Given the description of an element on the screen output the (x, y) to click on. 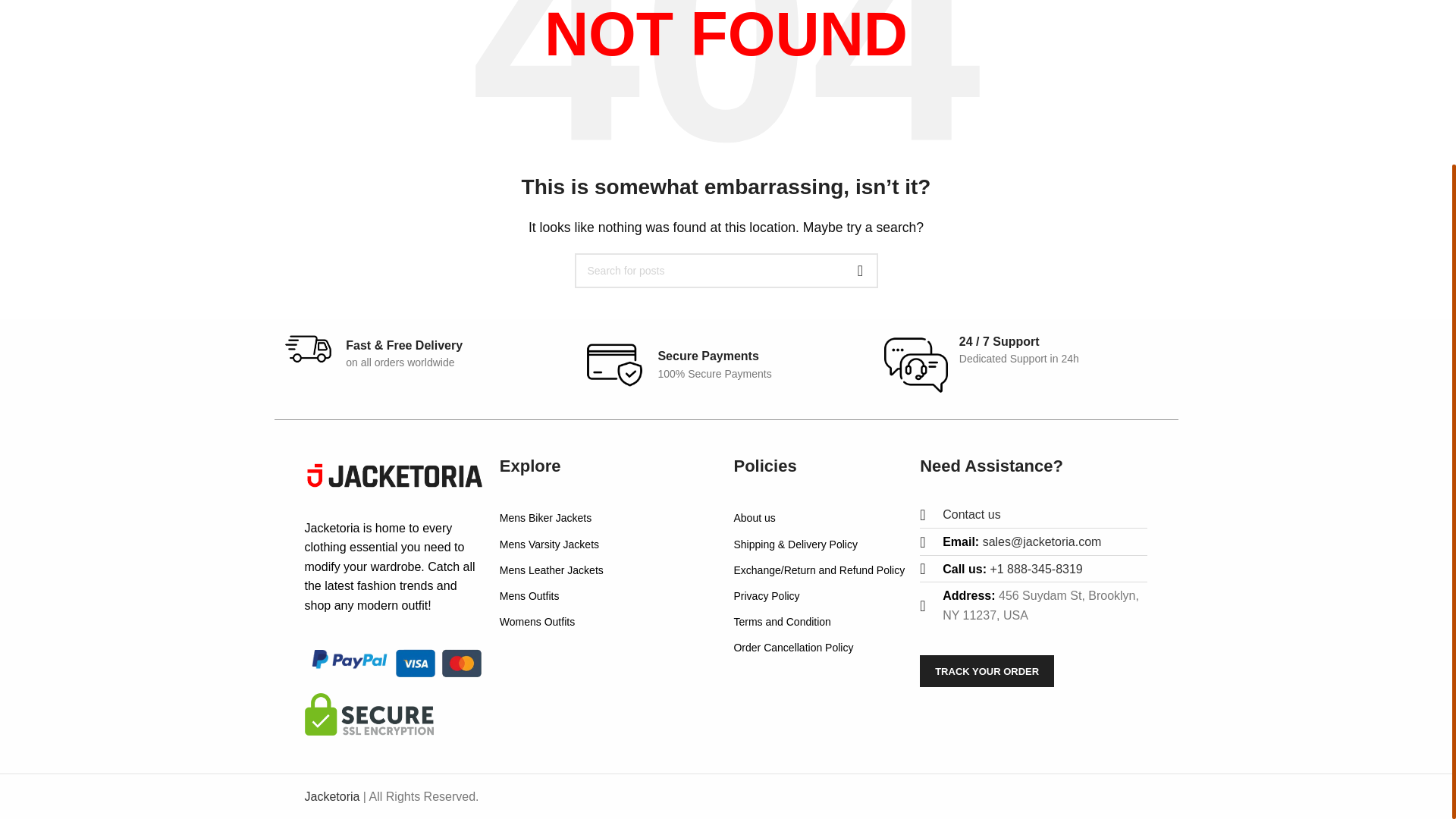
Terms and Condition (818, 621)
SEARCH (860, 270)
Search for posts (726, 270)
Womens Outfits (609, 621)
TRACK YOUR ORDER (987, 671)
About us (818, 517)
Mens Outfits (609, 596)
Order Cancellation Policy (818, 647)
Mens Leather Jackets (609, 570)
Jacketoria (331, 796)
